Given the description of an element on the screen output the (x, y) to click on. 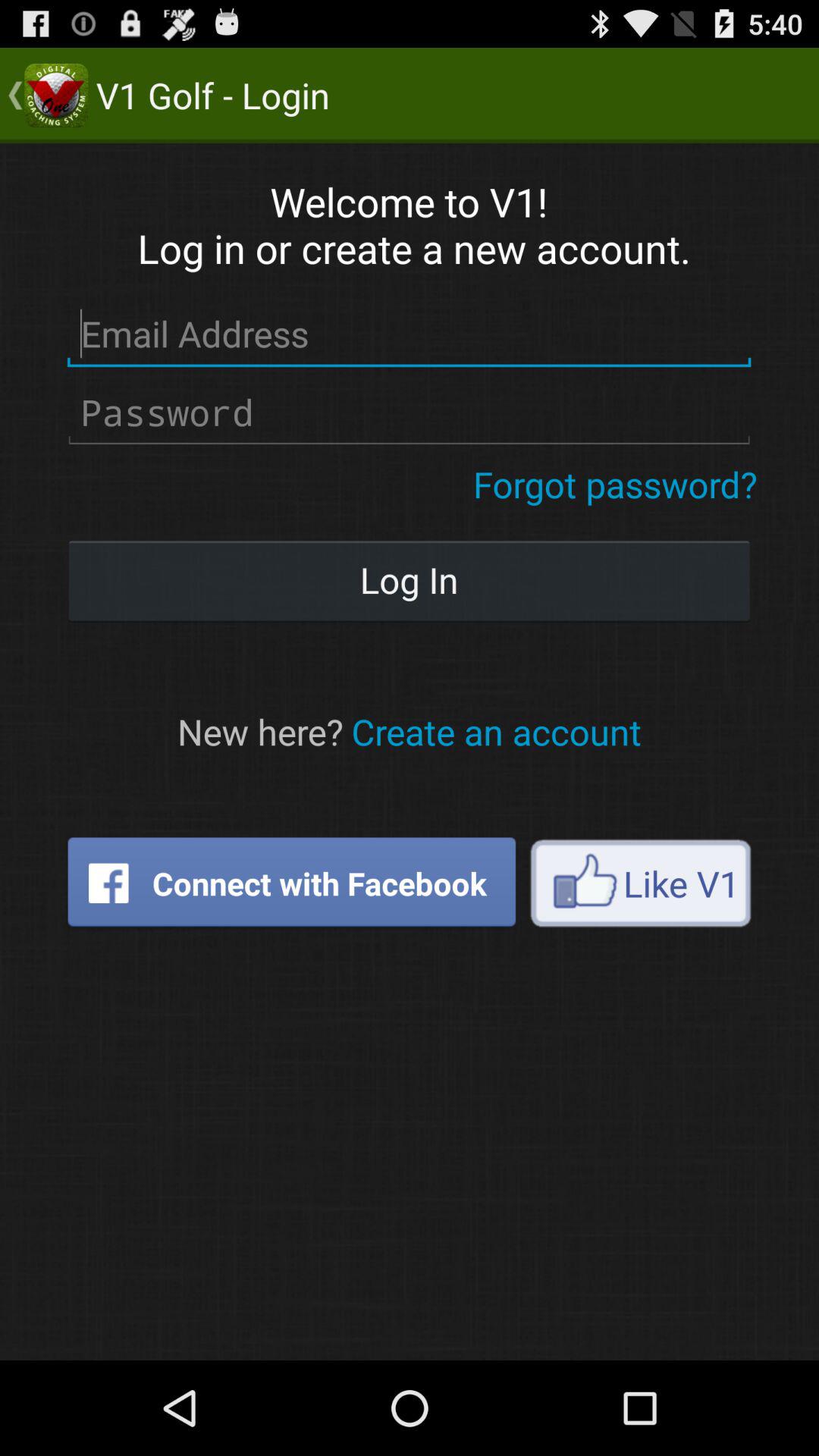
swipe until like v1 item (639, 883)
